Given the description of an element on the screen output the (x, y) to click on. 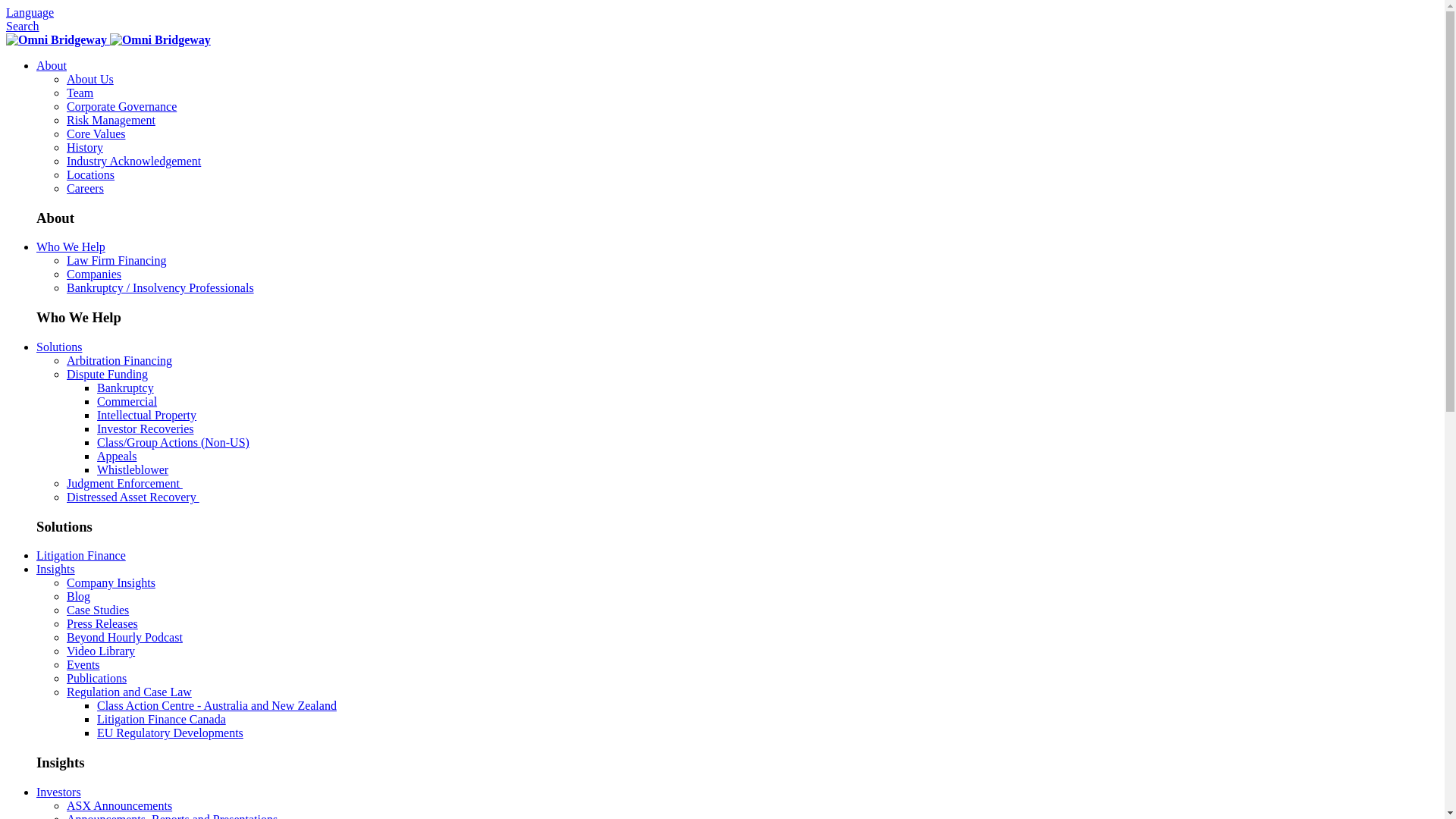
Events Element type: text (83, 664)
Careers Element type: text (84, 188)
Blog Element type: text (78, 595)
Locations Element type: text (90, 174)
Distressed Asset Recovery  Element type: text (132, 496)
Search Element type: text (22, 25)
Class Action Centre - Australia and New Zealand Element type: text (216, 705)
Dispute Funding Element type: text (106, 373)
Law Firm Financing Element type: text (116, 260)
Corporate Governance Element type: text (121, 106)
Press Releases Element type: text (102, 623)
About Us Element type: text (89, 78)
Regulation and Case Law Element type: text (128, 691)
Judgment Enforcement  Element type: text (124, 482)
Commercial Element type: text (126, 401)
Insights Element type: text (55, 568)
Investors Element type: text (58, 791)
Whistleblower Element type: text (132, 469)
Company Insights Element type: text (110, 582)
Solutions Element type: text (58, 346)
Beyond Hourly Podcast Element type: text (124, 636)
ASX Announcements Element type: text (119, 805)
About Element type: text (51, 65)
Language Element type: text (29, 12)
Litigation Finance Element type: text (80, 555)
Intellectual Property Element type: text (146, 414)
Bankruptcy / Insolvency Professionals Element type: text (160, 287)
Publications Element type: text (96, 677)
Bankruptcy Element type: text (125, 387)
Companies Element type: text (93, 273)
Class/Group Actions (Non-US) Element type: text (173, 442)
History Element type: text (84, 147)
Case Studies Element type: text (97, 609)
Litigation Finance Canada Element type: text (161, 718)
Video Library Element type: text (100, 650)
EU Regulatory Developments Element type: text (170, 732)
Who We Help Element type: text (70, 246)
Core Values Element type: text (95, 133)
Arbitration Financing Element type: text (119, 360)
Team Element type: text (79, 92)
Risk Management Element type: text (110, 119)
Industry Acknowledgement Element type: text (133, 160)
Appeals Element type: text (116, 455)
Investor Recoveries Element type: text (145, 428)
